Given the description of an element on the screen output the (x, y) to click on. 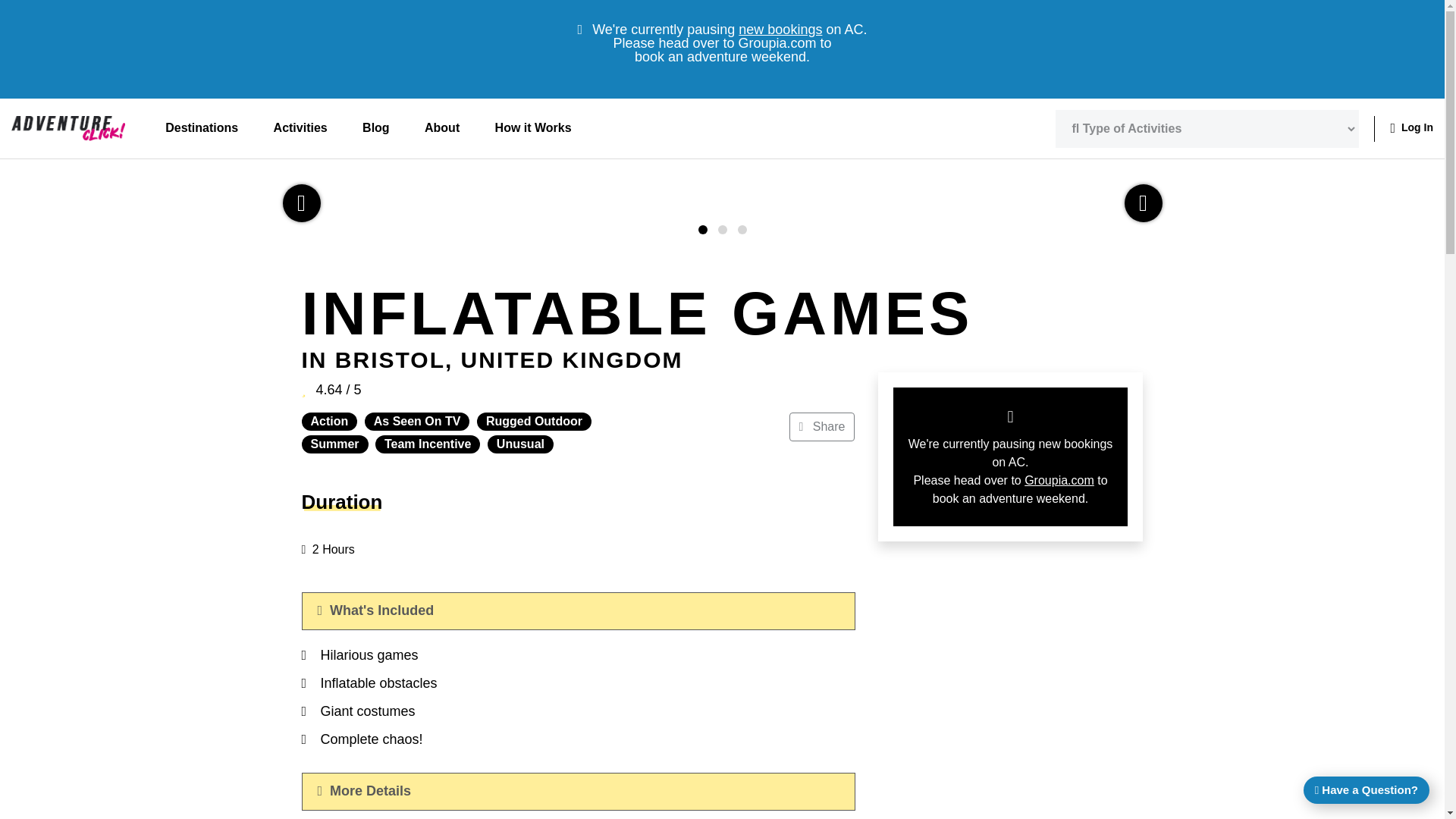
About (442, 128)
What's Included (578, 610)
Blog (375, 128)
Groupia.com (777, 43)
Activities (300, 128)
More Details (578, 791)
Destinations (201, 128)
Groupia.com (1059, 480)
Log In (1411, 127)
Share (821, 426)
